Given the description of an element on the screen output the (x, y) to click on. 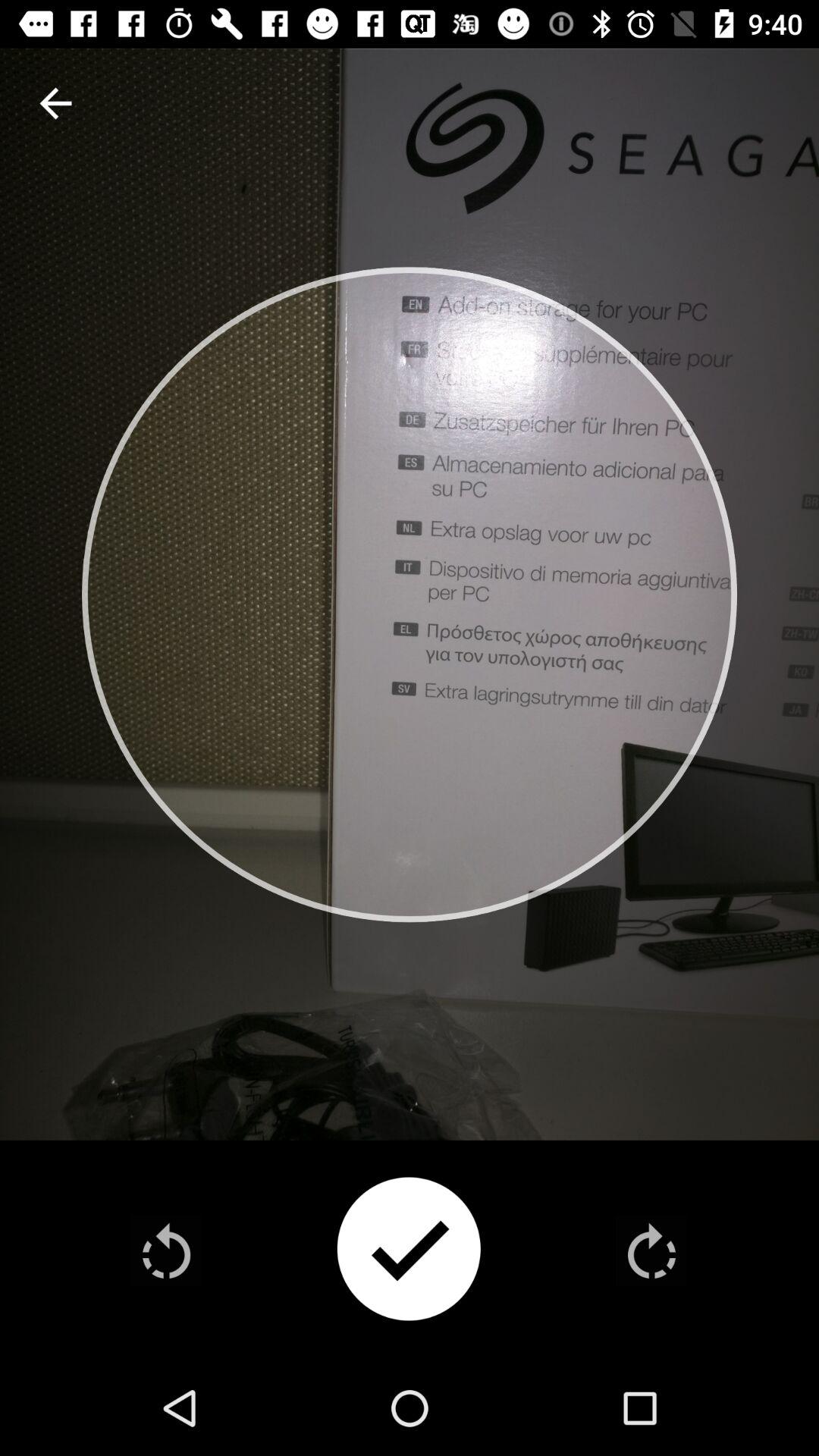
rewind feed (166, 1250)
